Given the description of an element on the screen output the (x, y) to click on. 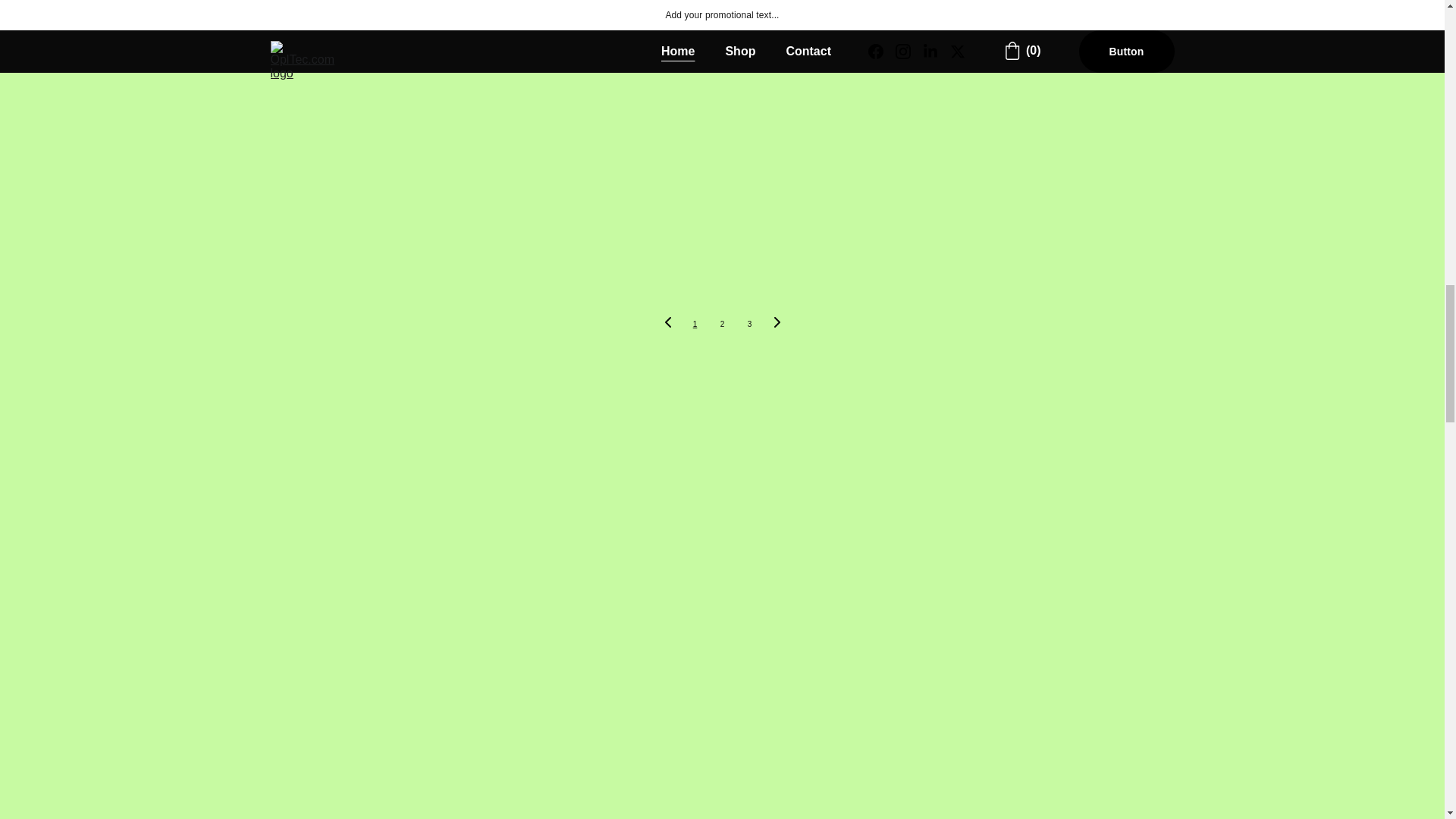
2 (721, 324)
3 (748, 324)
1 (694, 324)
